Given the description of an element on the screen output the (x, y) to click on. 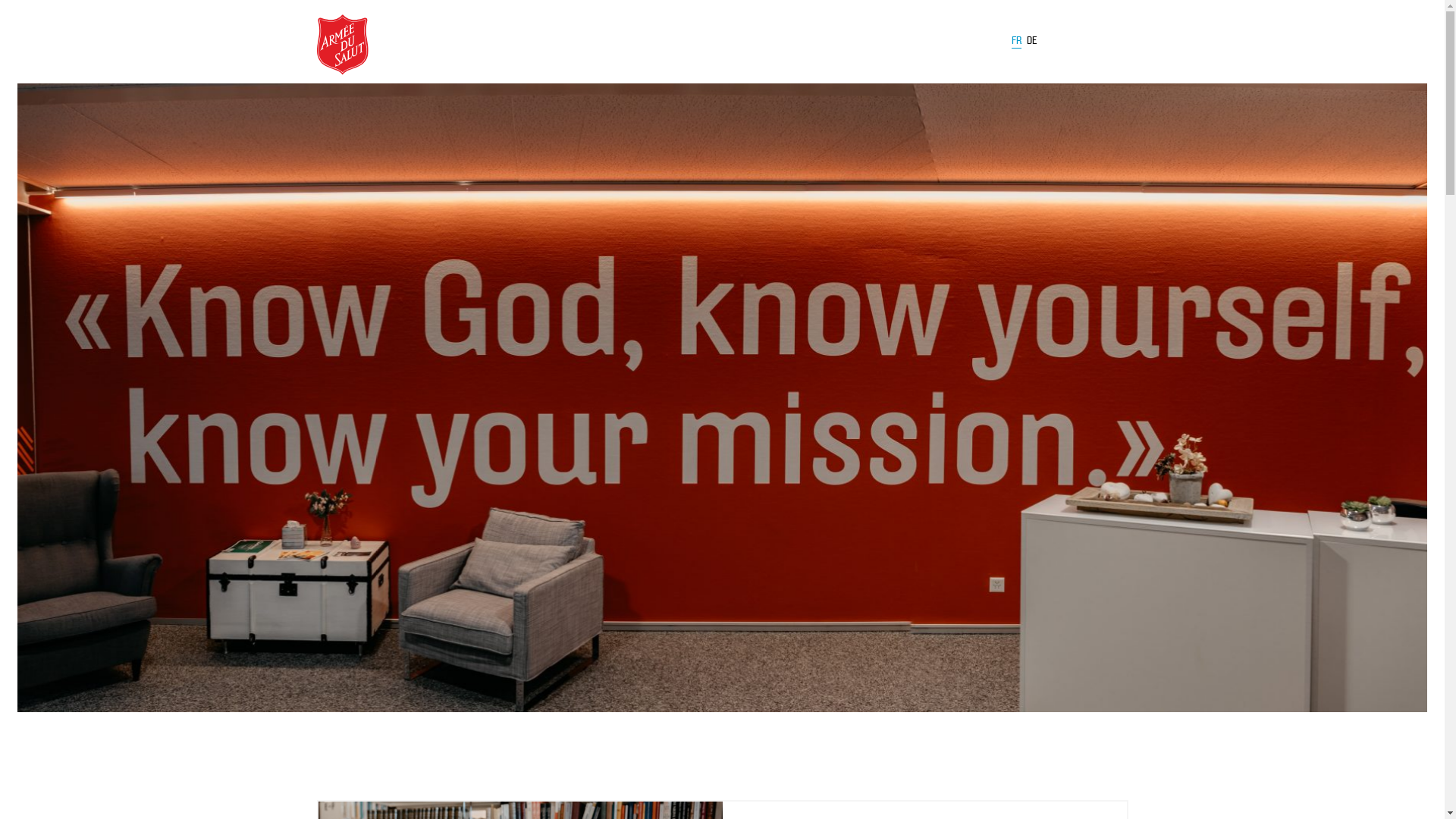
FR Element type: text (1016, 42)
DE Element type: text (1031, 40)
